Given the description of an element on the screen output the (x, y) to click on. 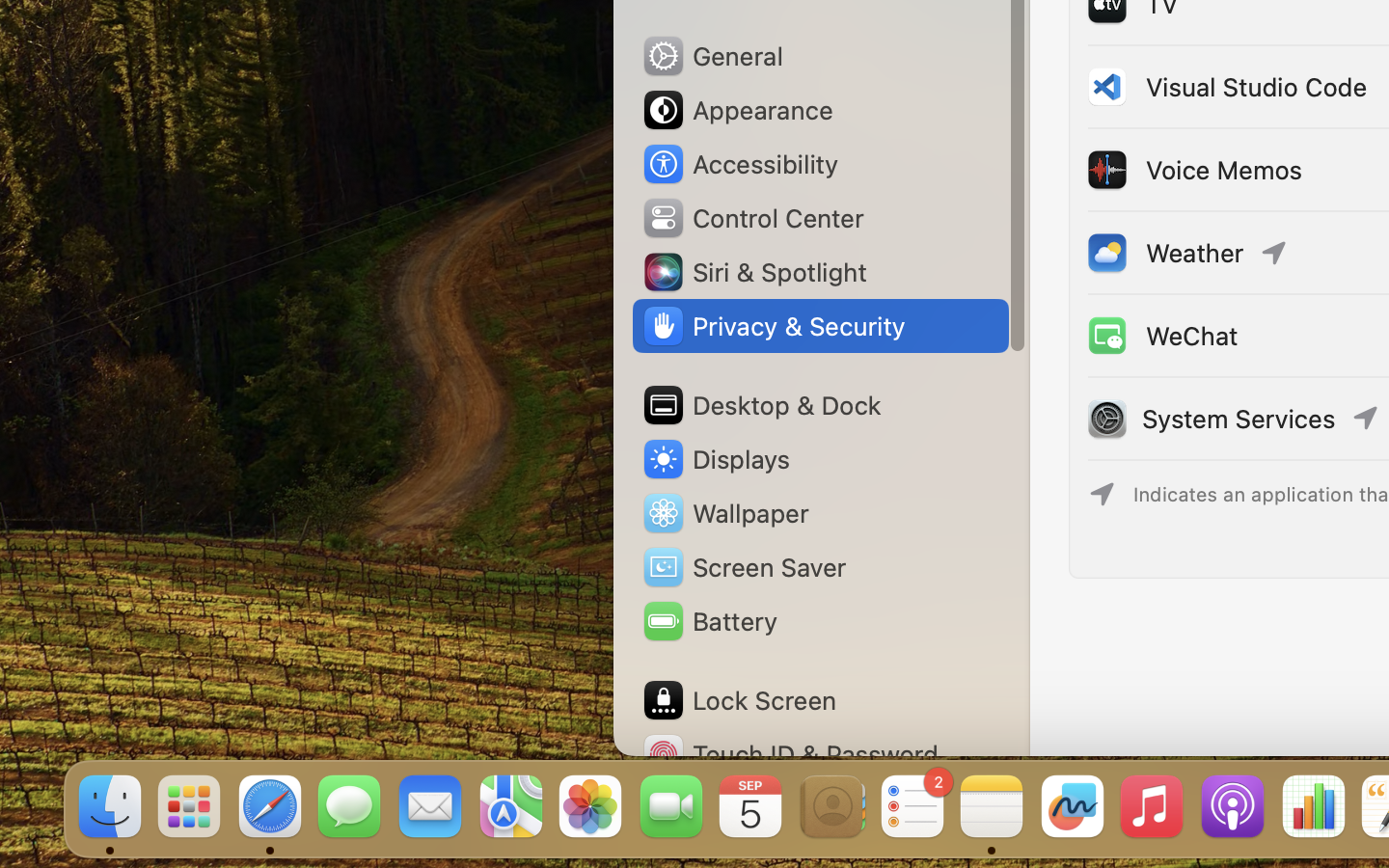
Visual Studio Code Element type: AXStaticText (1225, 86)
Siri & Spotlight Element type: AXStaticText (753, 271)
Control Center Element type: AXStaticText (752, 217)
Displays Element type: AXStaticText (715, 458)
Wallpaper Element type: AXStaticText (724, 512)
